Given the description of an element on the screen output the (x, y) to click on. 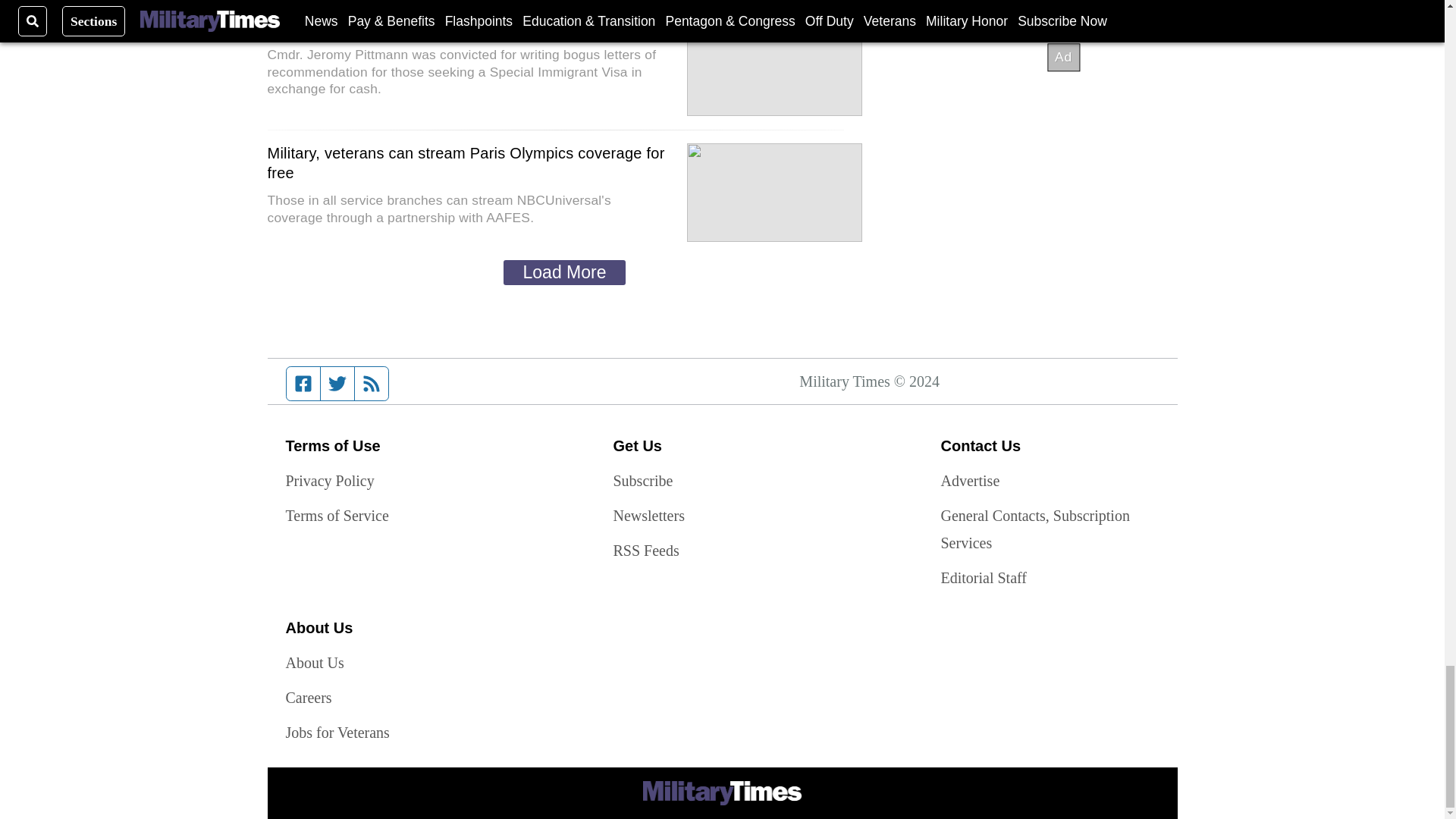
Twitter feed (336, 383)
Facebook page (303, 383)
RSS feed (371, 383)
